Given the description of an element on the screen output the (x, y) to click on. 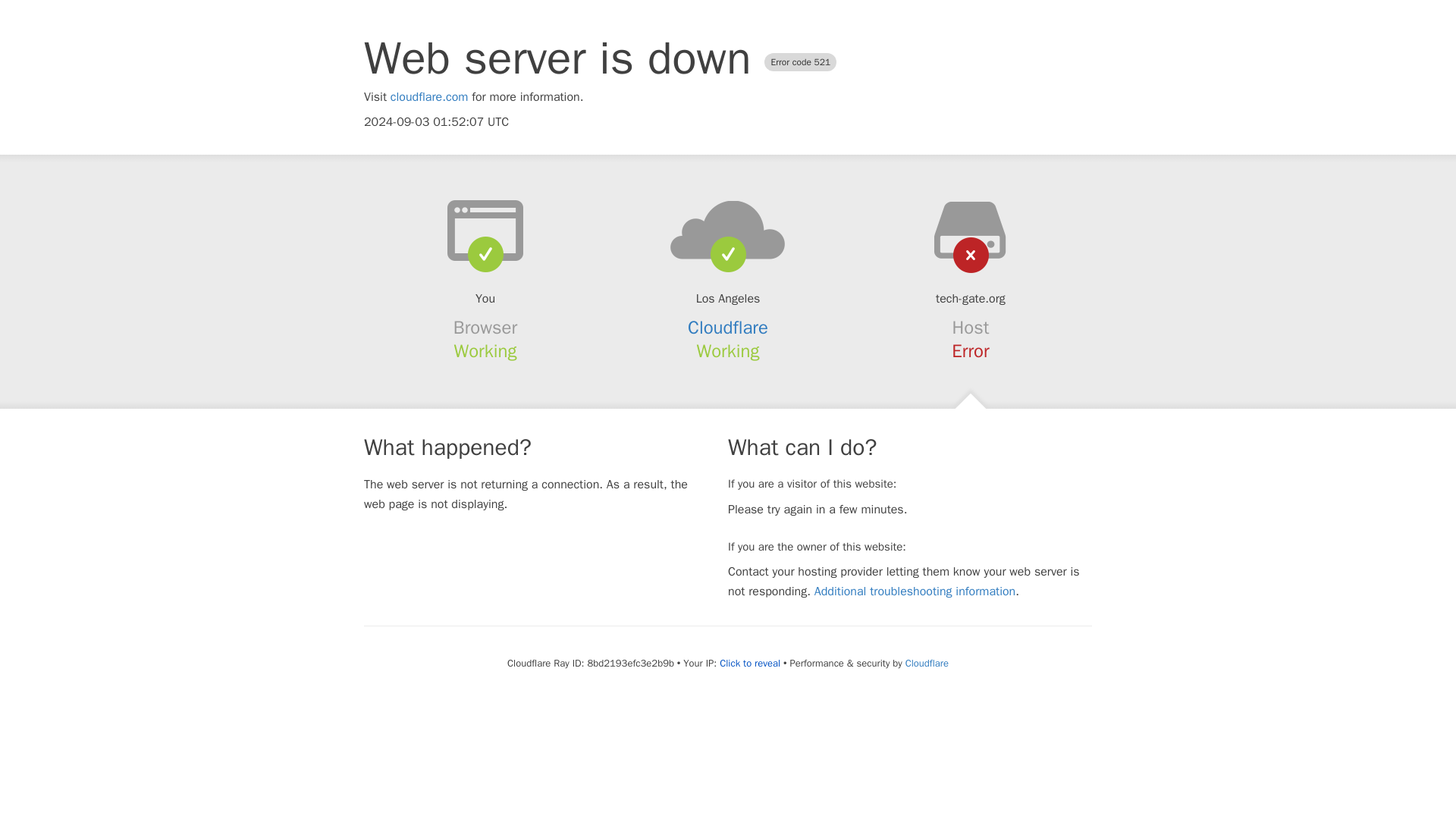
Click to reveal (749, 663)
cloudflare.com (429, 96)
Cloudflare (927, 662)
Cloudflare (727, 327)
Additional troubleshooting information (913, 590)
